Given the description of an element on the screen output the (x, y) to click on. 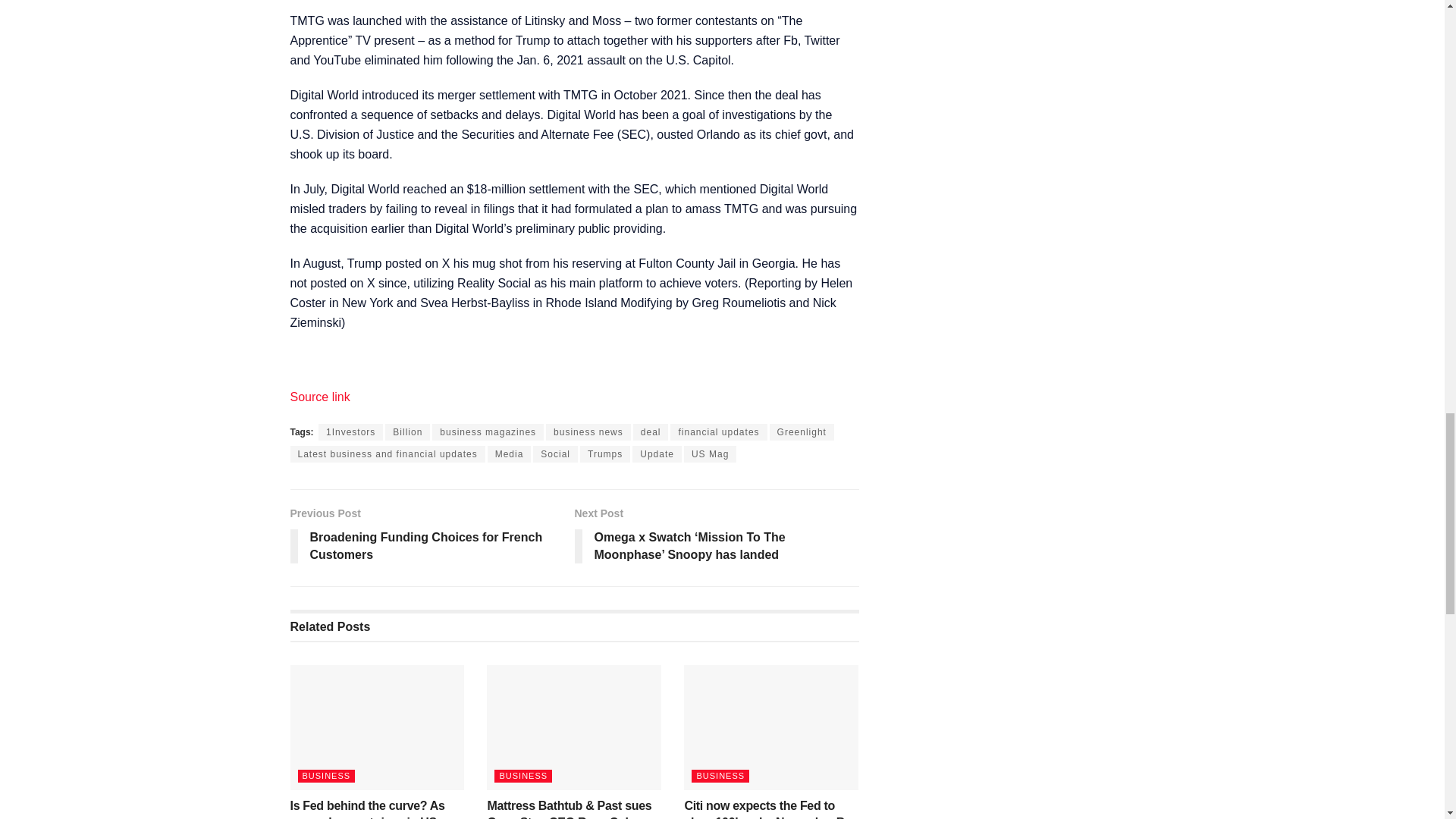
Source link (319, 396)
1Investors (350, 432)
